Given the description of an element on the screen output the (x, y) to click on. 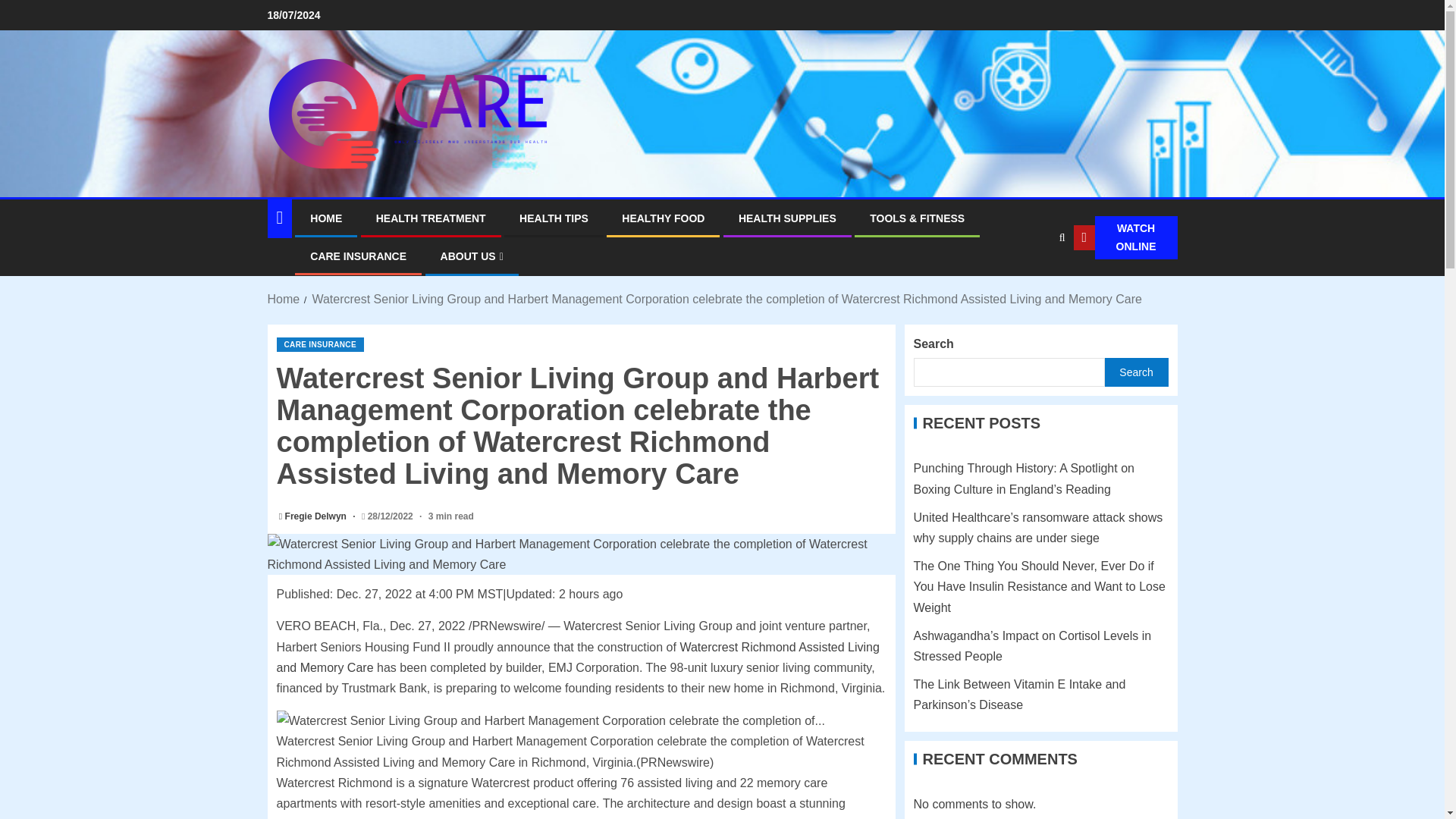
HEALTHY FOOD (662, 218)
HOME (326, 218)
ABOUT US (472, 256)
CARE INSURANCE (319, 344)
Search (1031, 284)
HEALTH TREATMENT (430, 218)
Fregie Delwyn (317, 516)
WATCH ONLINE (1125, 238)
HEALTH TIPS (553, 218)
Home (282, 298)
Watercrest Richmond Assisted Living and Memory Care (577, 657)
CARE INSURANCE (358, 256)
HEALTH SUPPLIES (786, 218)
